Given the description of an element on the screen output the (x, y) to click on. 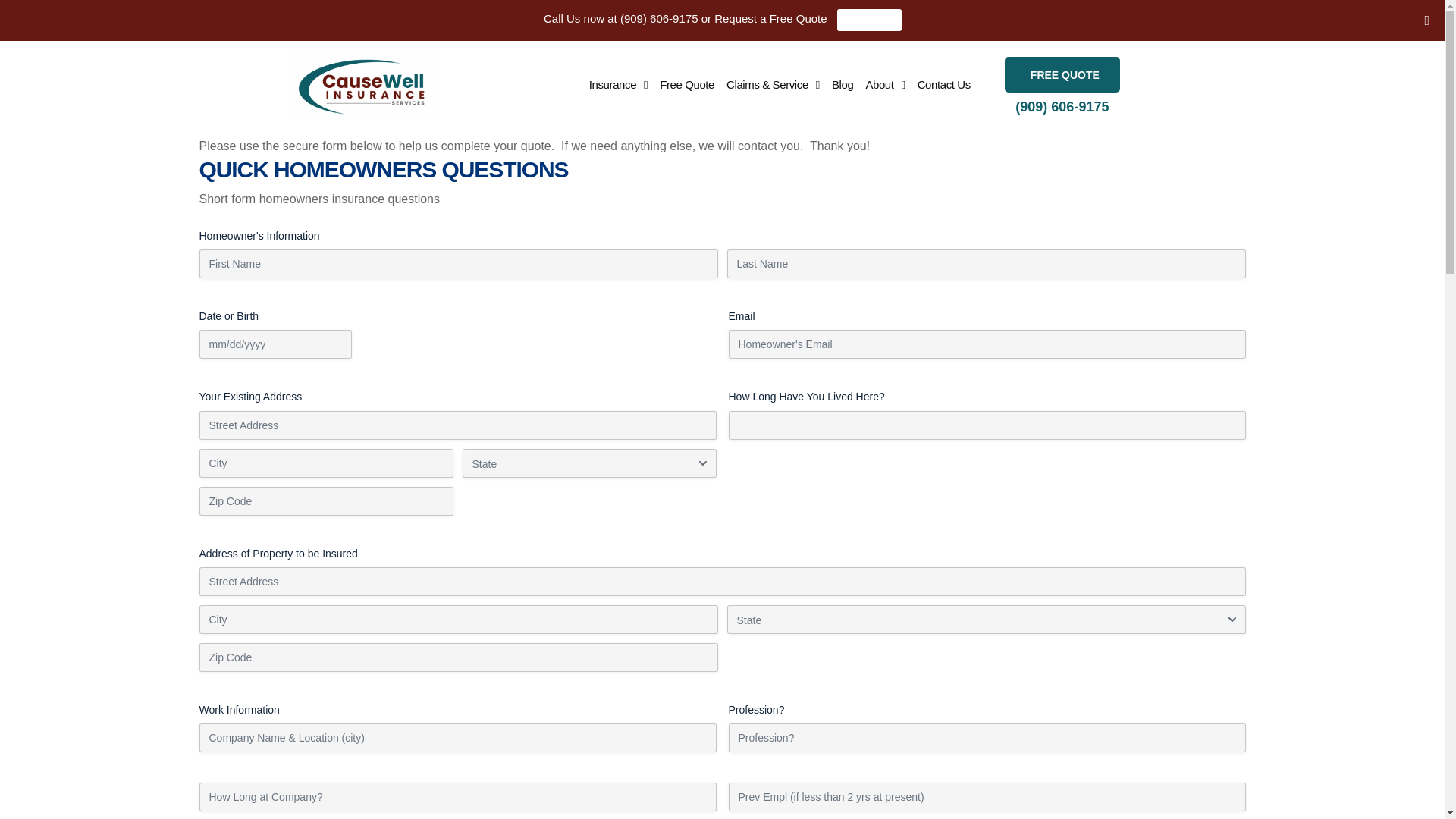
Blog (843, 84)
Zip Code (325, 500)
Zip Code (457, 656)
Insurance (617, 84)
Contact Us (943, 84)
City (457, 619)
About (885, 84)
City (325, 462)
Free Quote (686, 84)
Street Address (721, 581)
